Given the description of an element on the screen output the (x, y) to click on. 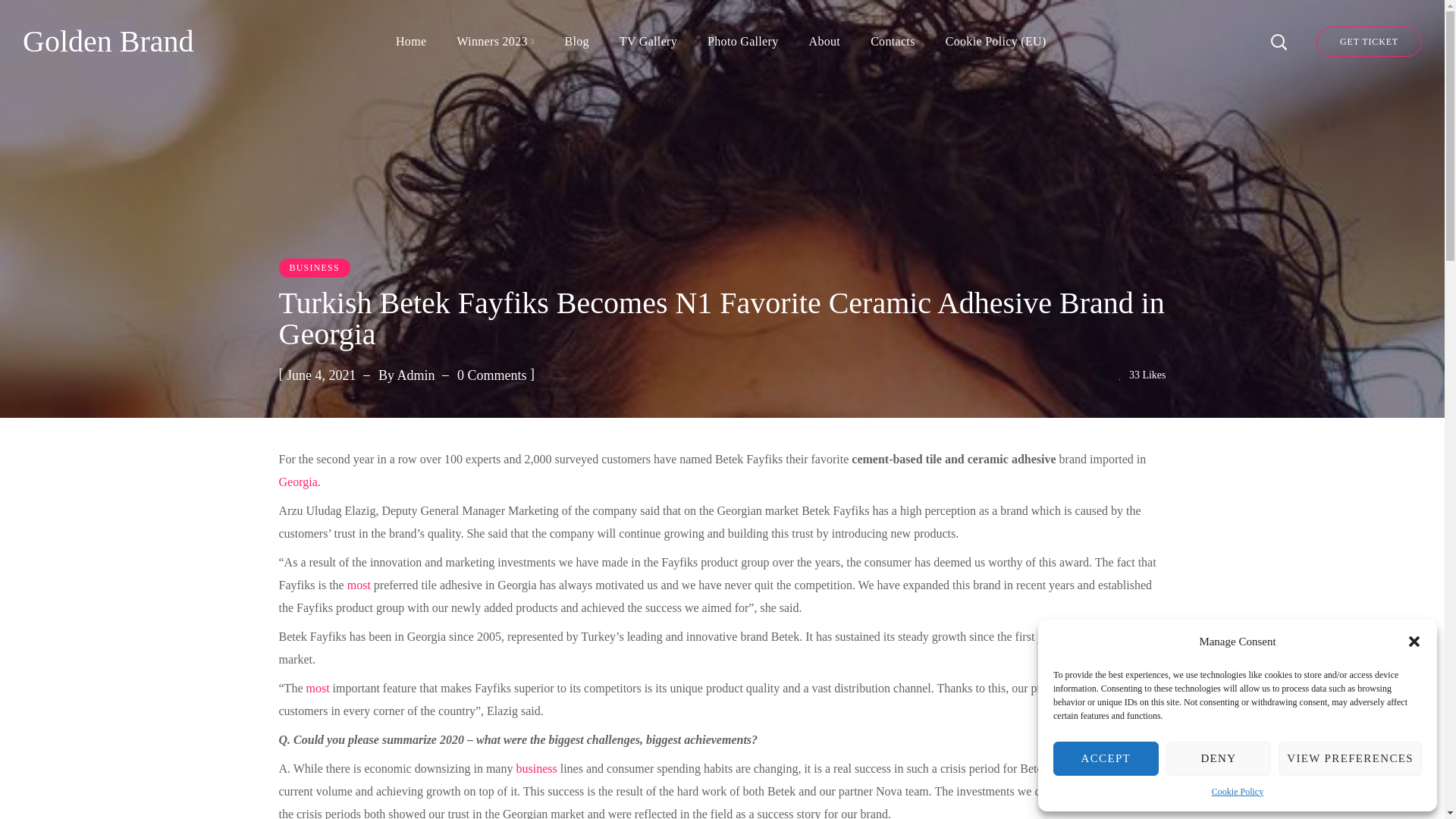
Most (317, 687)
Business (535, 768)
VIEW PREFERENCES (1350, 758)
Winners 2023 (494, 41)
GET TICKET (1369, 41)
Search (1238, 121)
Contacts (893, 41)
Golden Brand (108, 41)
ACCEPT (1105, 758)
Search (1238, 38)
